Given the description of an element on the screen output the (x, y) to click on. 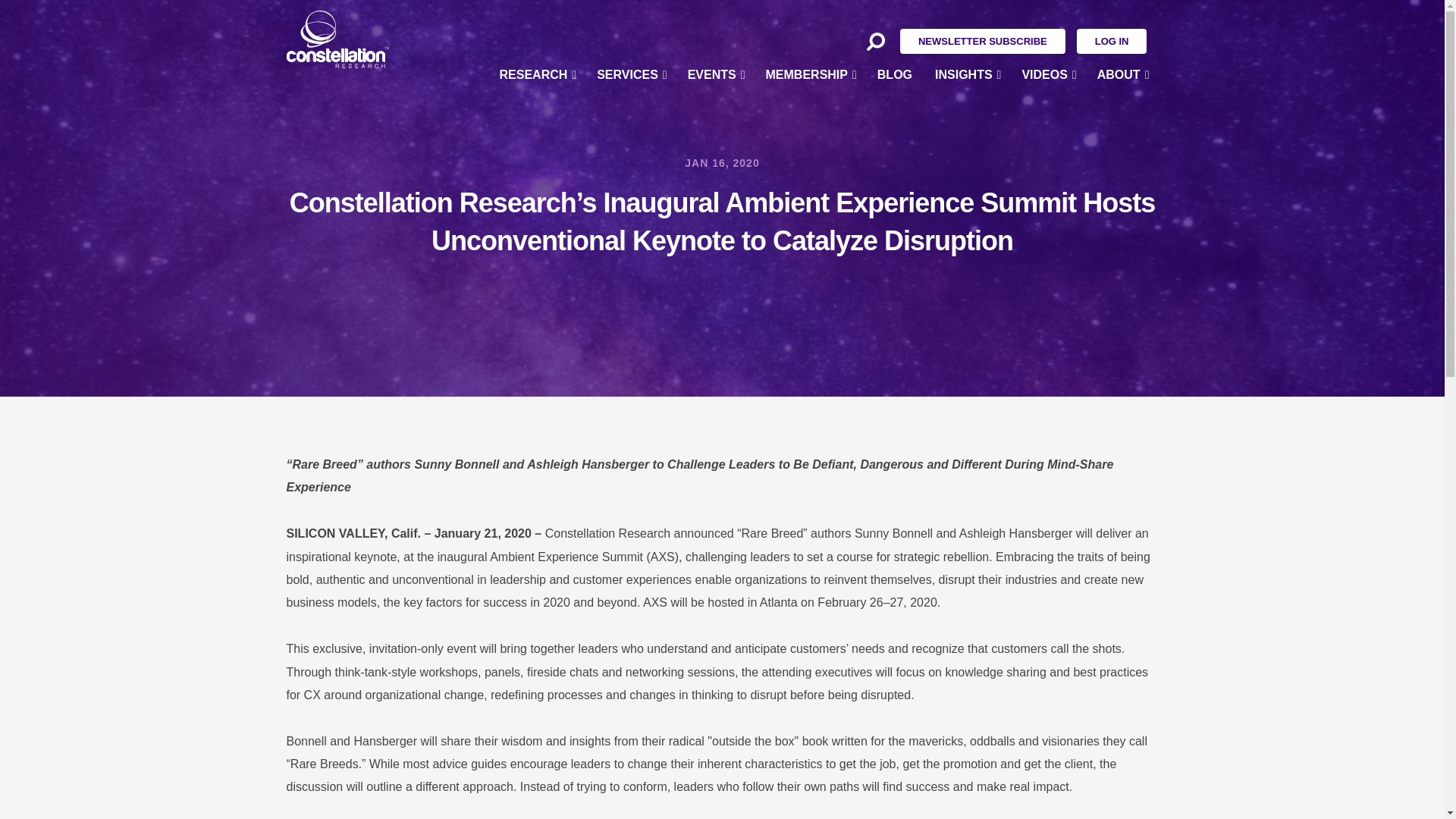
Research Services (536, 344)
Business Research Themes (536, 139)
The Innovation Summit for the Enterprise (715, 173)
Research Unlimited subscription (810, 139)
Roles (536, 173)
RESEARCH (536, 74)
Research Policies (536, 310)
Constellation Executive Network membership (810, 74)
Analysts (536, 207)
Constellation research library (536, 105)
